Given the description of an element on the screen output the (x, y) to click on. 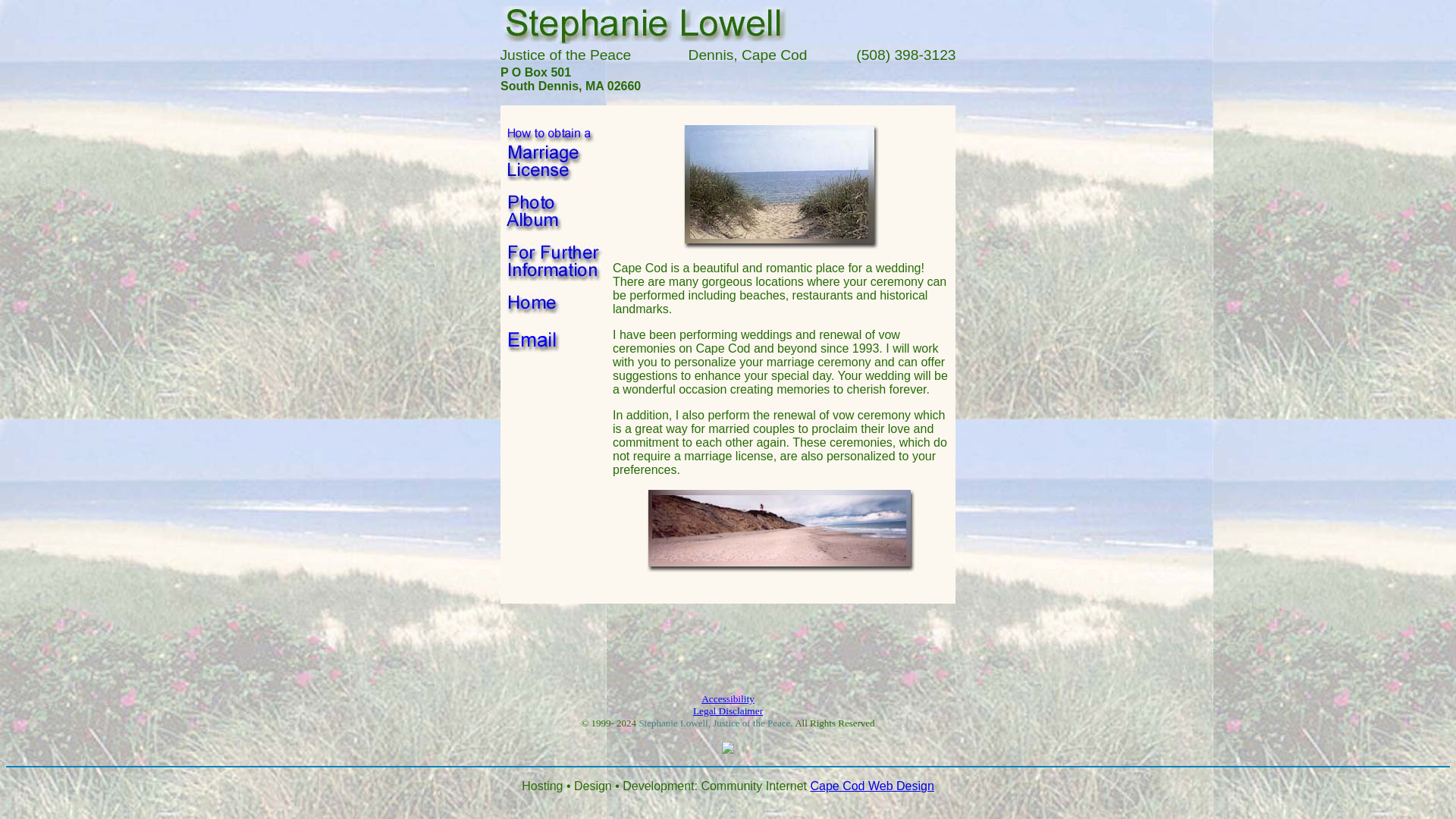
Cape Cod Web Design (871, 785)
Accessibility (727, 698)
Legal Disclaimer (727, 710)
